Given the description of an element on the screen output the (x, y) to click on. 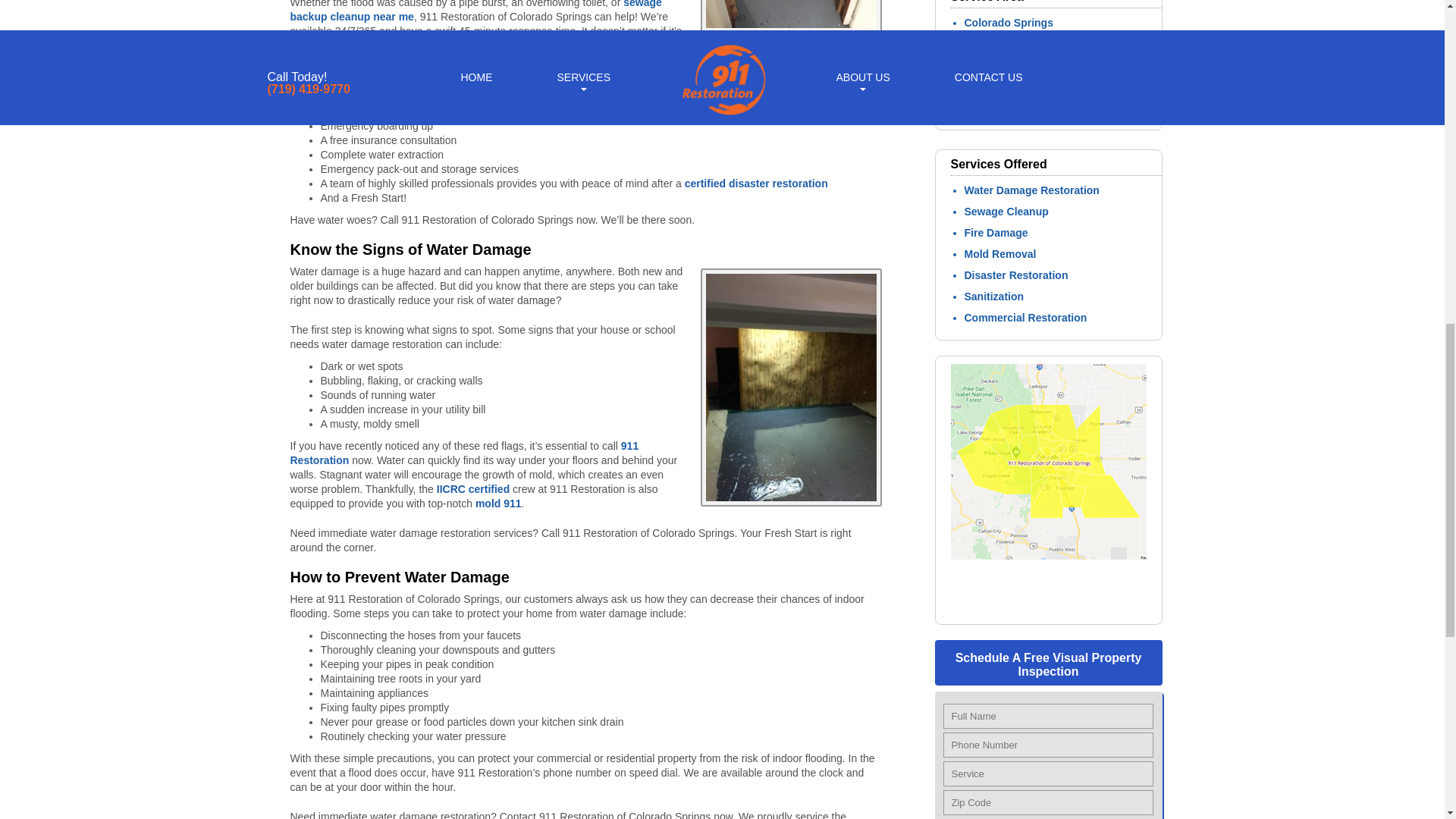
Service Area (1052, 609)
